Given the description of an element on the screen output the (x, y) to click on. 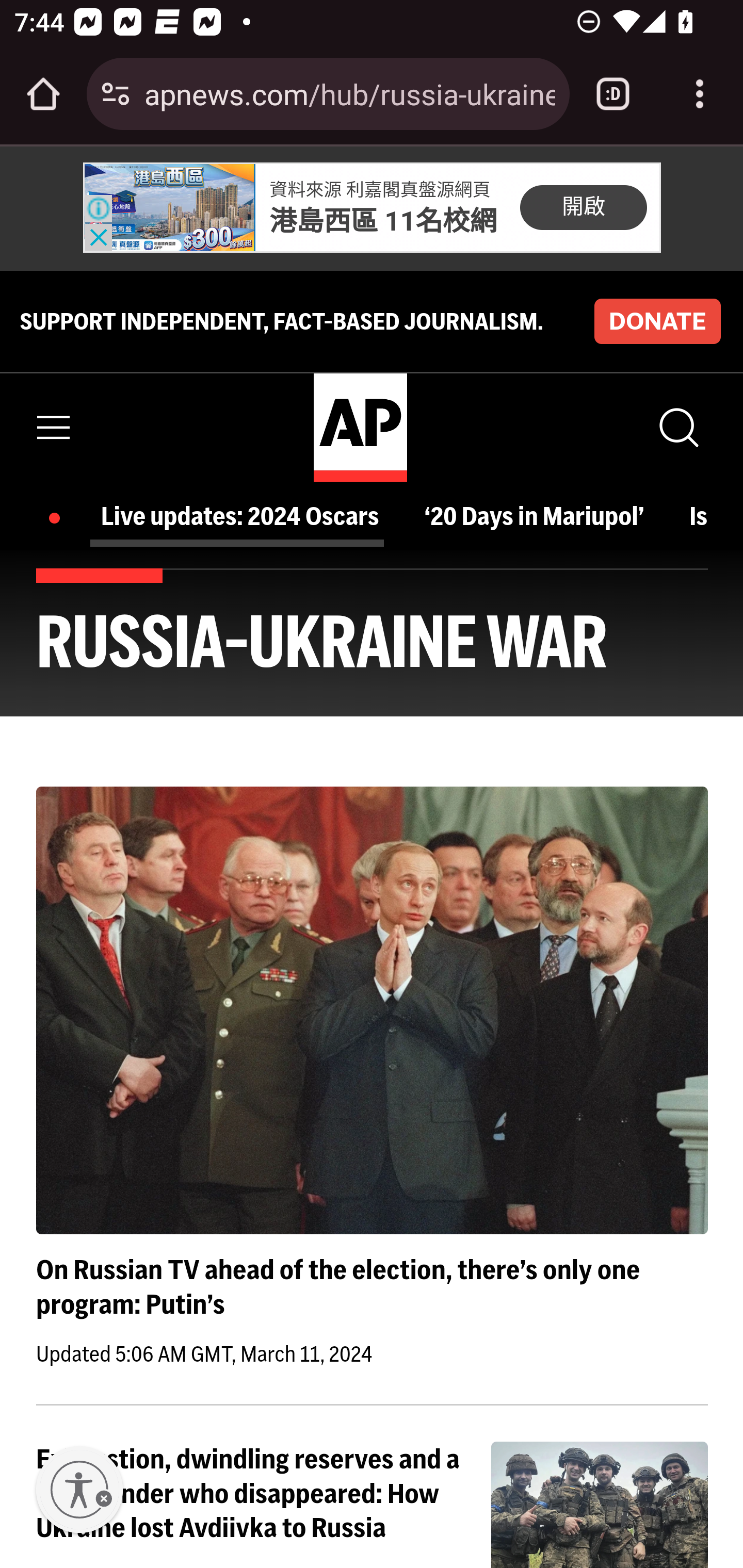
Open the home page (43, 93)
Connection is secure (115, 93)
Switch or close tabs (612, 93)
Customize and control Google Chrome (699, 93)
apnews.com/hub/russia-ukraine (349, 92)
資料來源 利嘉閣真盤源網頁 (379, 190)
開啟 (582, 206)
港島西區 11名校網 (383, 220)
DONATE (657, 320)
home page AP Logo (359, 426)
Menu (54, 427)
Show Search (677, 427)
Live updates: 2024 Oscars (245, 516)
‘20 Days in Mariupol’ (538, 516)
Israel-Hamas war (698, 516)
Enable accessibility (79, 1490)
